Given the description of an element on the screen output the (x, y) to click on. 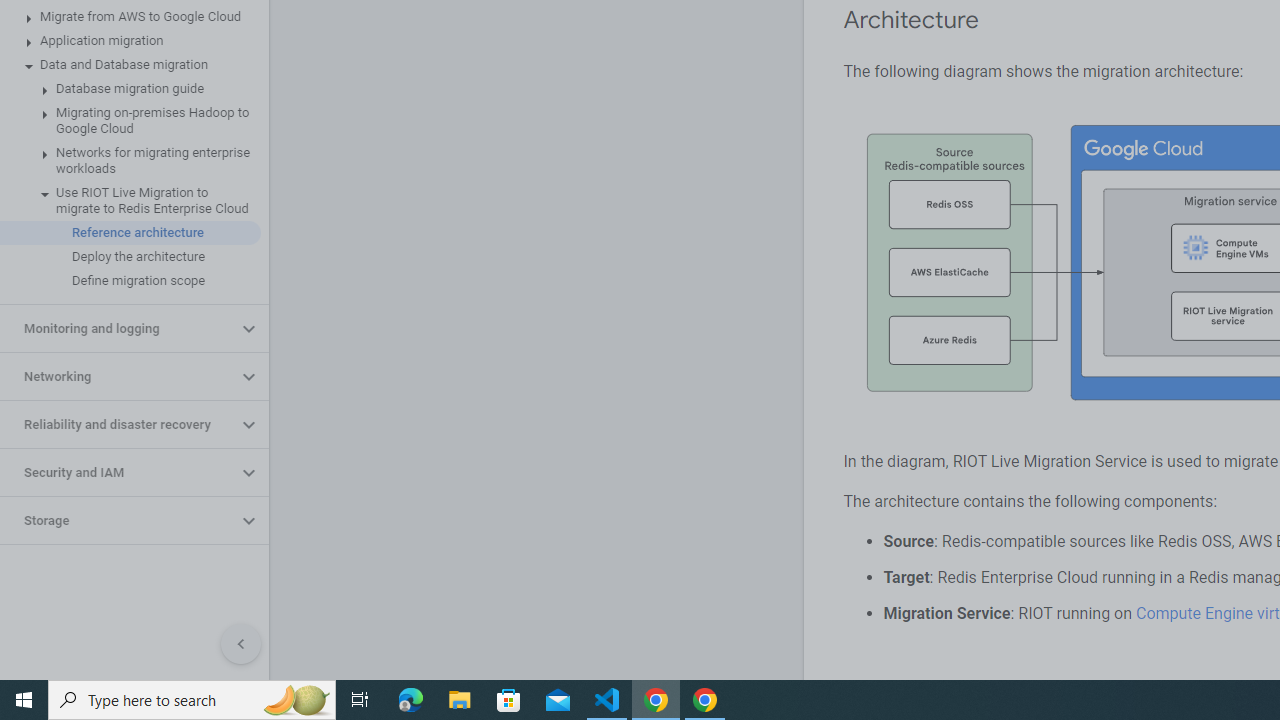
Define migration scope (130, 281)
Use RIOT Live Migration to migrate to Redis Enterprise Cloud (130, 200)
Networks for migrating enterprise workloads (130, 160)
